Given the description of an element on the screen output the (x, y) to click on. 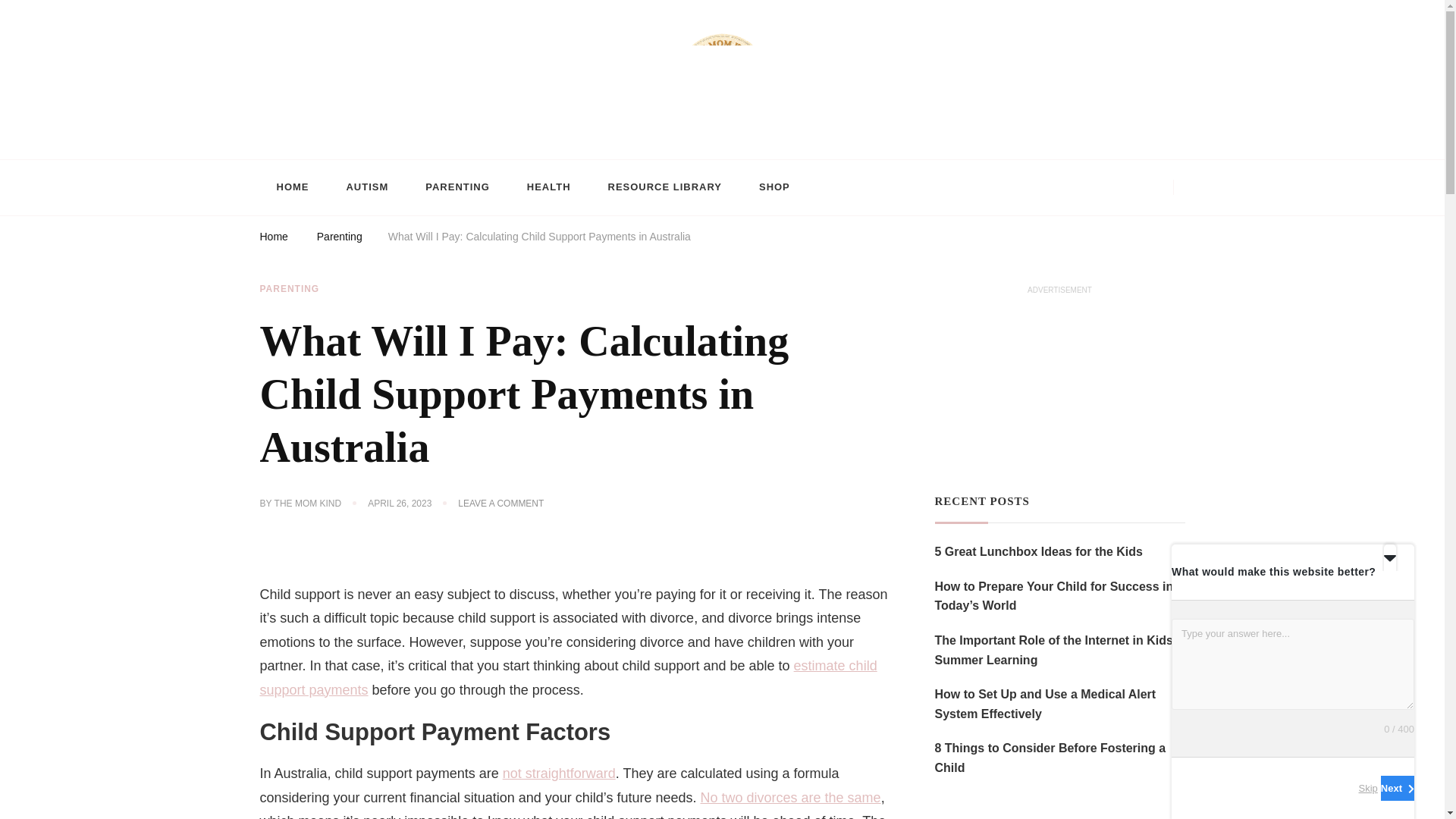
estimate child support payments (567, 677)
AUTISM (366, 187)
PARENTING (457, 187)
The Mom Kind (334, 150)
No two divorces are the same (790, 797)
not straightforward (558, 773)
RESOURCE LIBRARY (664, 187)
PARENTING (288, 289)
